Given the description of an element on the screen output the (x, y) to click on. 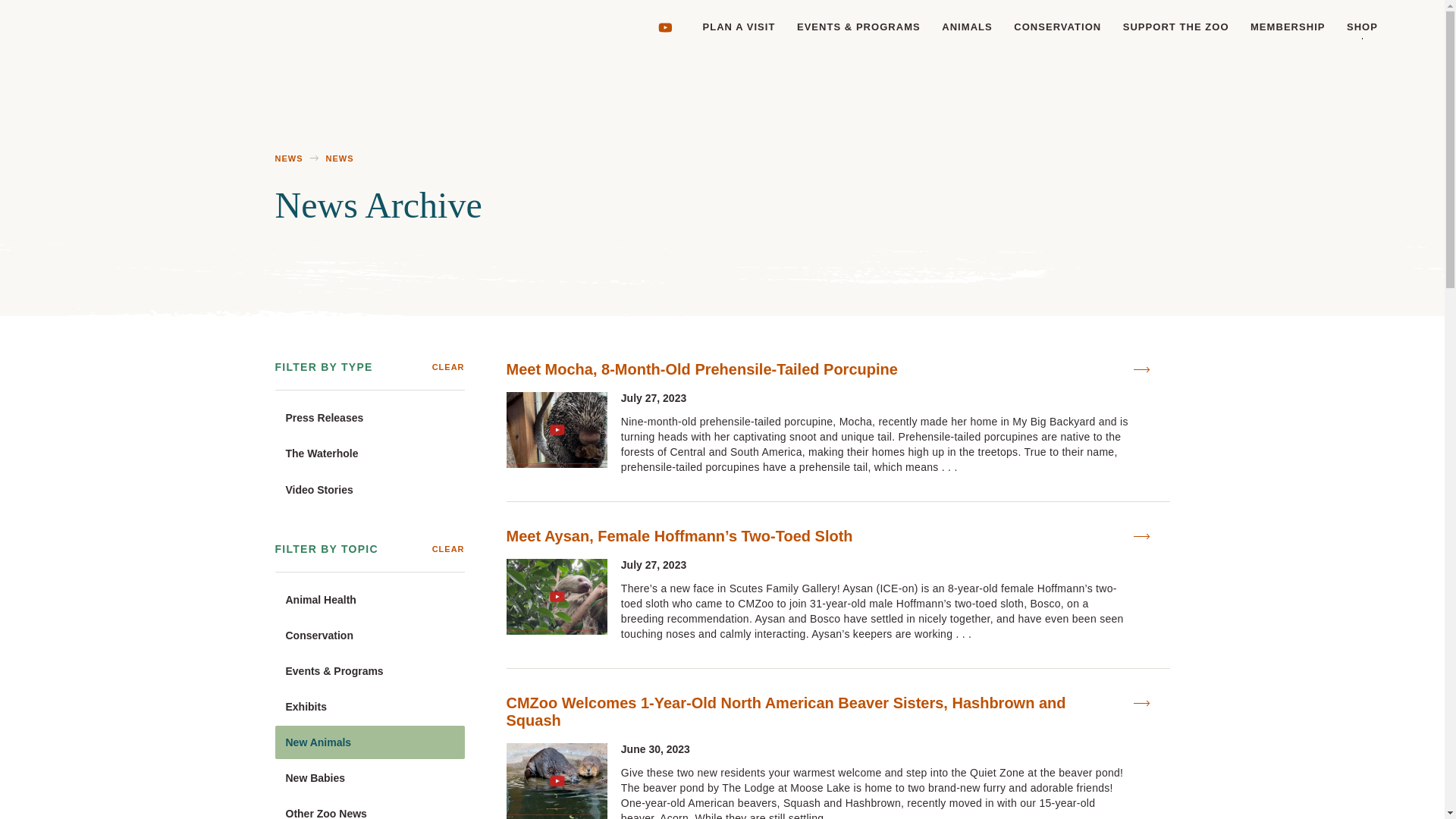
Video Stories (369, 489)
New Animals (369, 742)
SUPPORT THE ZOO (1176, 27)
NEWS (288, 158)
New Babies (369, 777)
CLEAR (448, 367)
CONSERVATION (1056, 27)
Animal Health (369, 599)
Other Zoo News (369, 807)
The Waterhole (369, 453)
NEWS (339, 158)
PLAN A VISIT (738, 27)
Press Releases (369, 417)
